Given the description of an element on the screen output the (x, y) to click on. 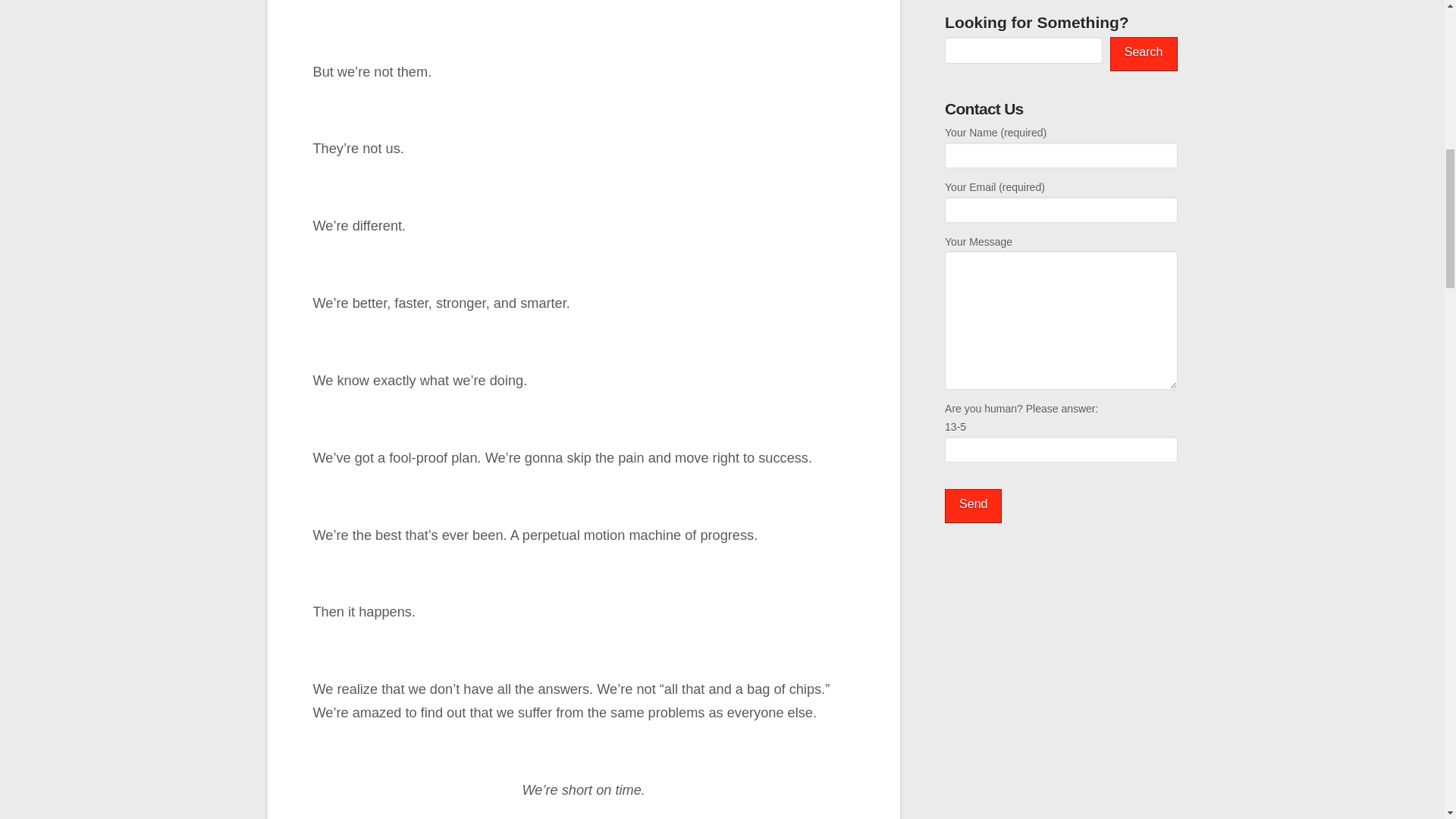
Search (1143, 53)
Send (972, 505)
Send (972, 505)
